Given the description of an element on the screen output the (x, y) to click on. 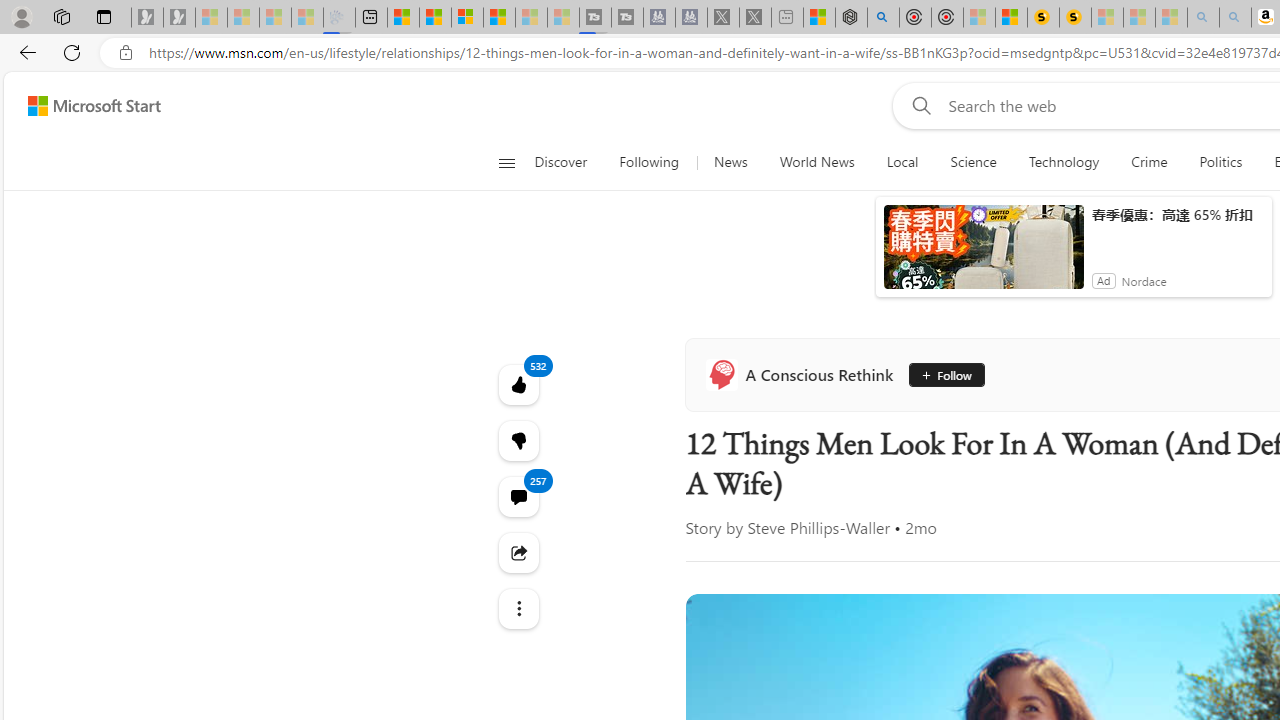
AutomationID: tab-20 (818, 576)
961 Like (1151, 574)
AutomationID: tab-17 (793, 576)
App launcher (47, 138)
Inc. (1138, 475)
Learning (1159, 265)
T3 (1138, 475)
To get missing image descriptions, open the context menu. (932, 192)
BRAINY DOSE (1138, 507)
